Given the description of an element on the screen output the (x, y) to click on. 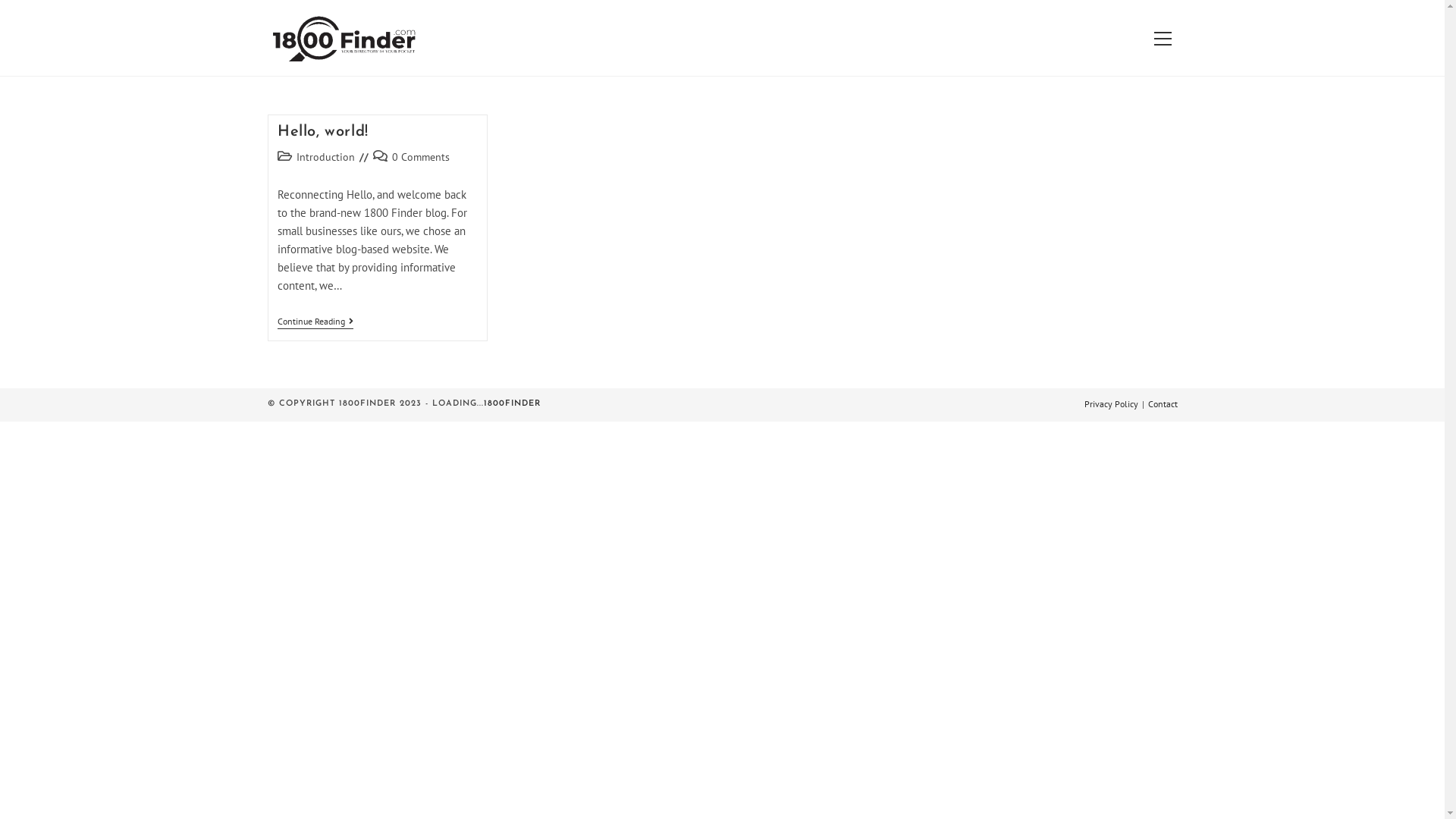
1800FINDER Element type: text (511, 403)
Contact Element type: text (1162, 403)
Privacy Policy Element type: text (1111, 403)
0 Comments Element type: text (420, 156)
Continue Reading
Hello, World! Element type: text (315, 322)
Hello, world! Element type: text (322, 131)
Introduction Element type: text (325, 156)
